Given the description of an element on the screen output the (x, y) to click on. 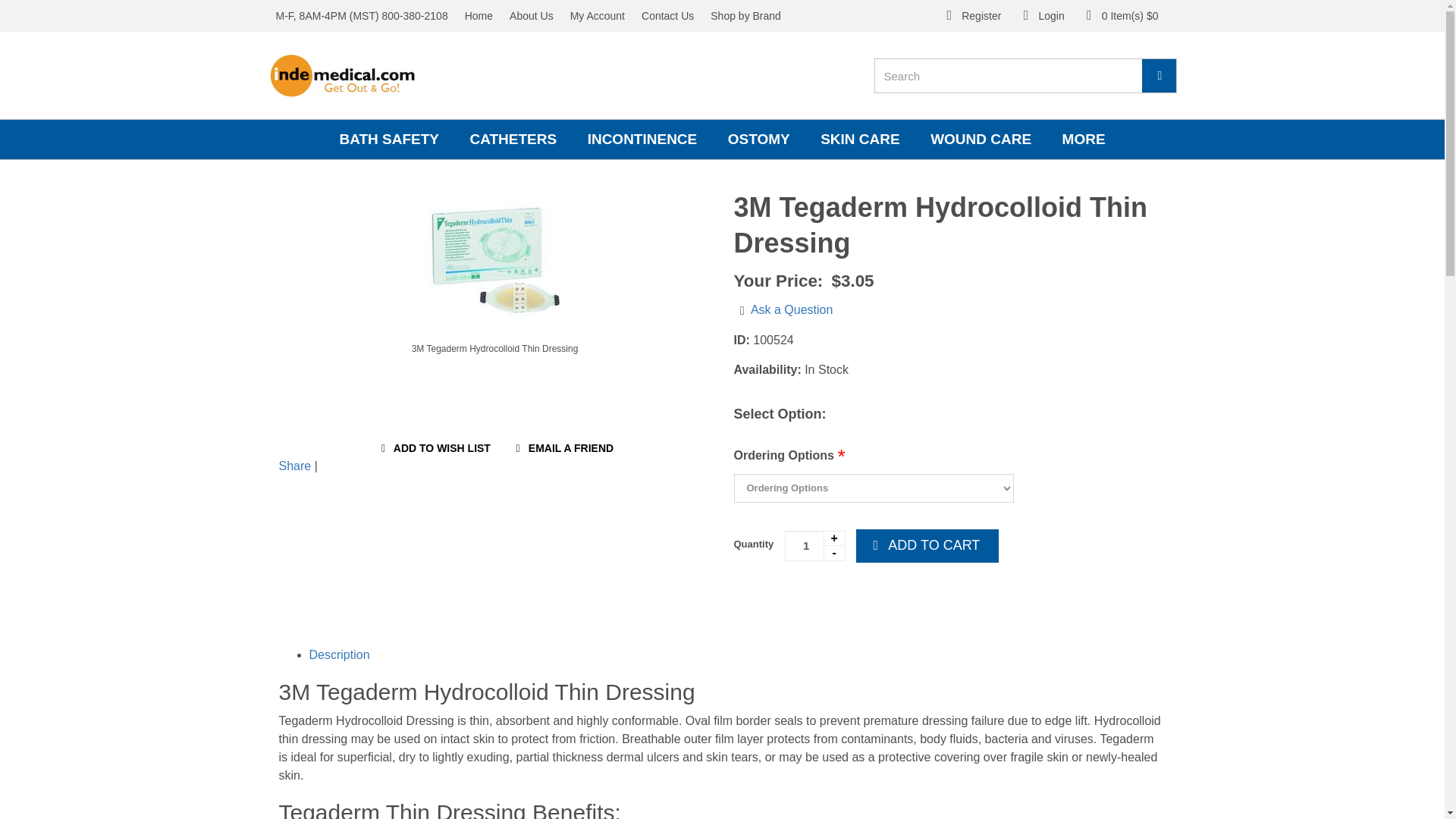
EMAIL A FRIEND (561, 448)
ADD TO WISH LIST (433, 448)
MORE (1083, 138)
SEARCH (1158, 75)
Home (478, 15)
OSTOMY (758, 138)
My Account (597, 15)
About Us (531, 15)
